Given the description of an element on the screen output the (x, y) to click on. 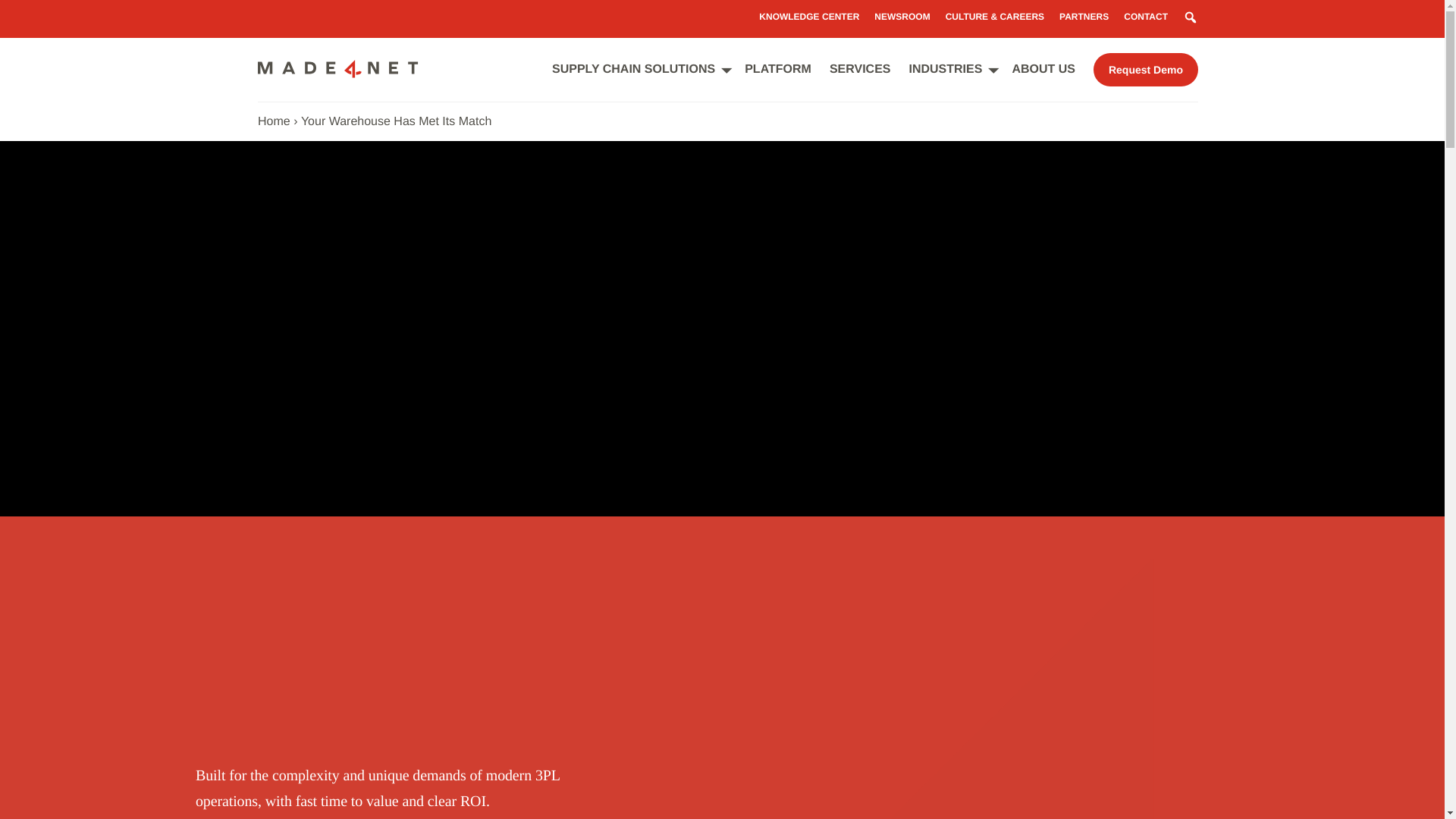
Request Demo (1145, 69)
Home (273, 121)
SERVICES (860, 69)
ABOUT US (1043, 69)
INDUSTRIES (944, 69)
CONTACT (1145, 16)
Made4net Home (338, 73)
PLATFORM (777, 69)
KNOWLEDGE CENTER (808, 16)
SUPPLY CHAIN SOLUTIONS (632, 69)
